Given the description of an element on the screen output the (x, y) to click on. 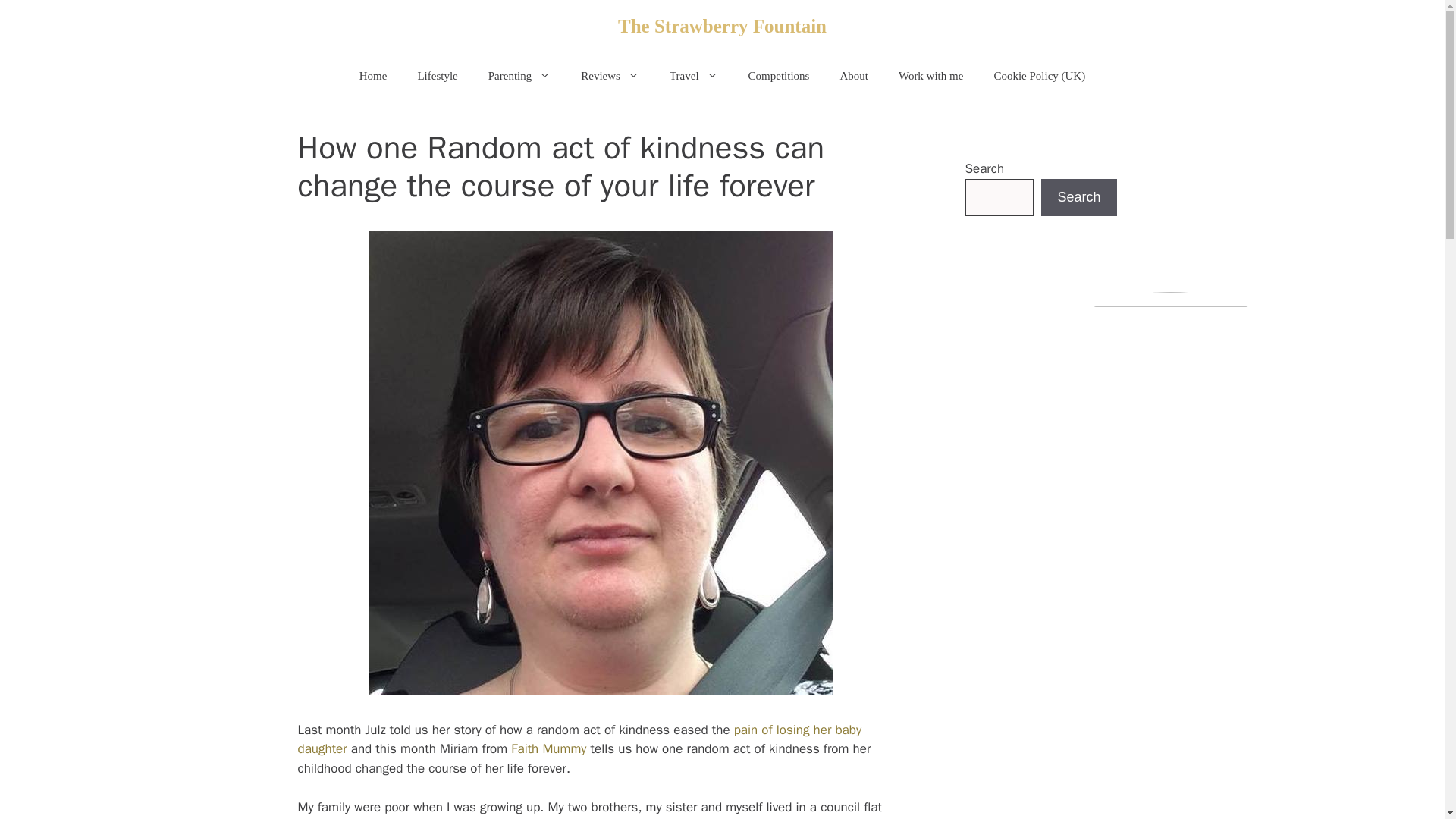
Home (373, 75)
Competitions (779, 75)
About (853, 75)
pain of losing her baby daughter (579, 739)
Lifestyle (436, 75)
Travel (693, 75)
Reviews (609, 75)
Work with me (930, 75)
Parenting (519, 75)
Faith Mummy (550, 748)
